Given the description of an element on the screen output the (x, y) to click on. 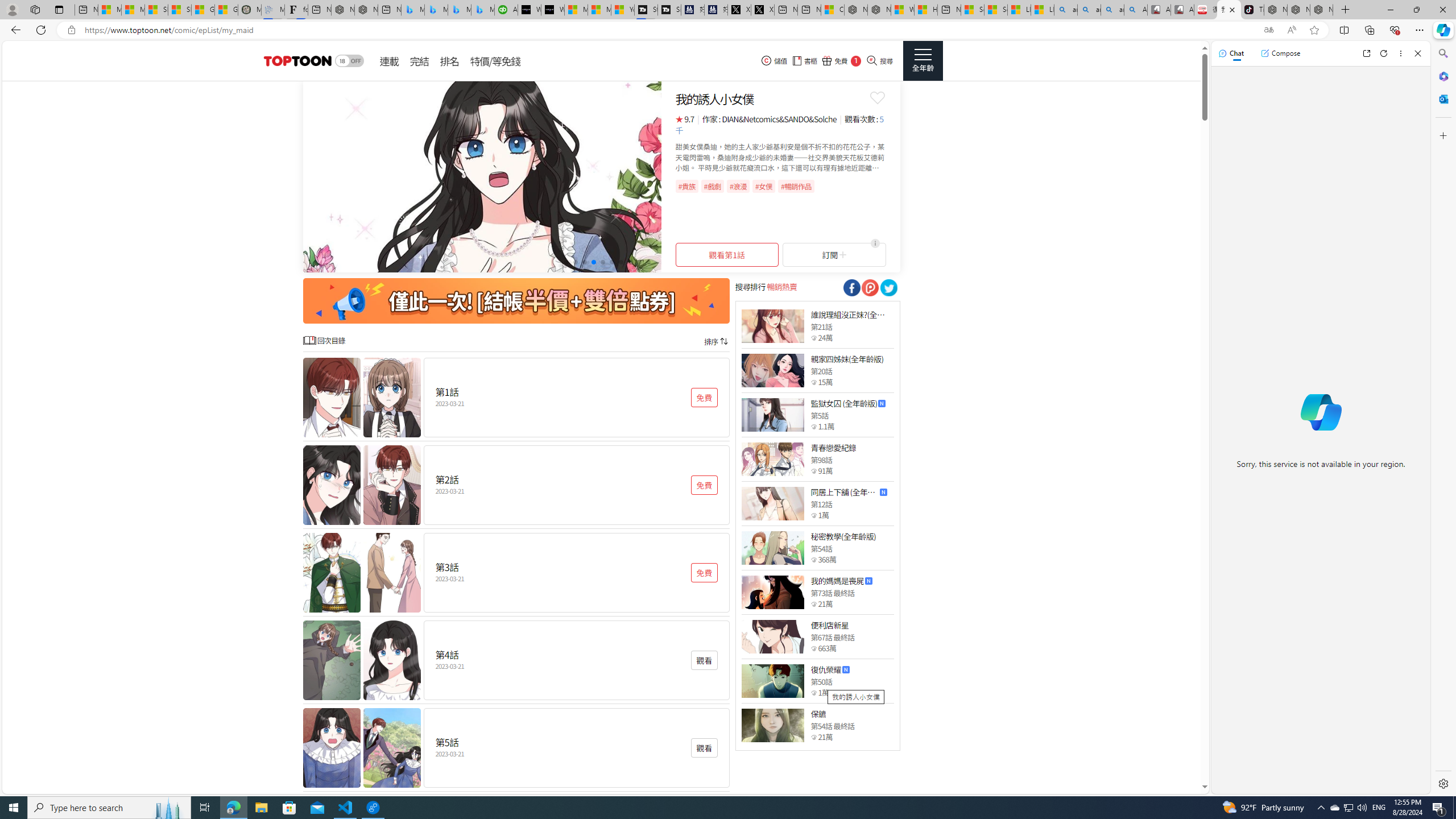
Microsoft 365 (1442, 76)
Side bar (1443, 418)
Class: thumb_img (772, 725)
Manatee Mortality Statistics | FWC (249, 9)
